Given the description of an element on the screen output the (x, y) to click on. 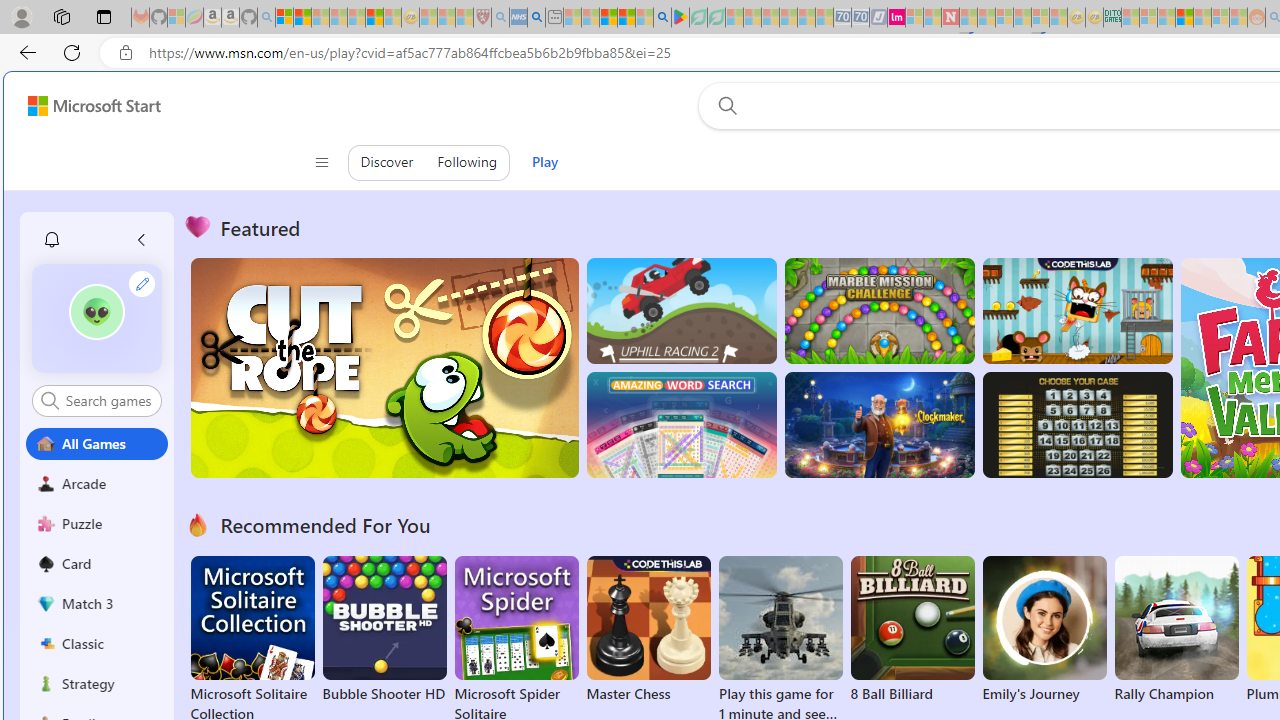
Pets - MSN (626, 17)
Amazing Word Search (681, 425)
Bubble Shooter HD (384, 629)
Jobs - lastminute.com Investor Portal (896, 17)
Class: notification-item (51, 239)
Bluey: Let's Play! - Apps on Google Play (680, 17)
Class: control icon-only (320, 162)
